Given the description of an element on the screen output the (x, y) to click on. 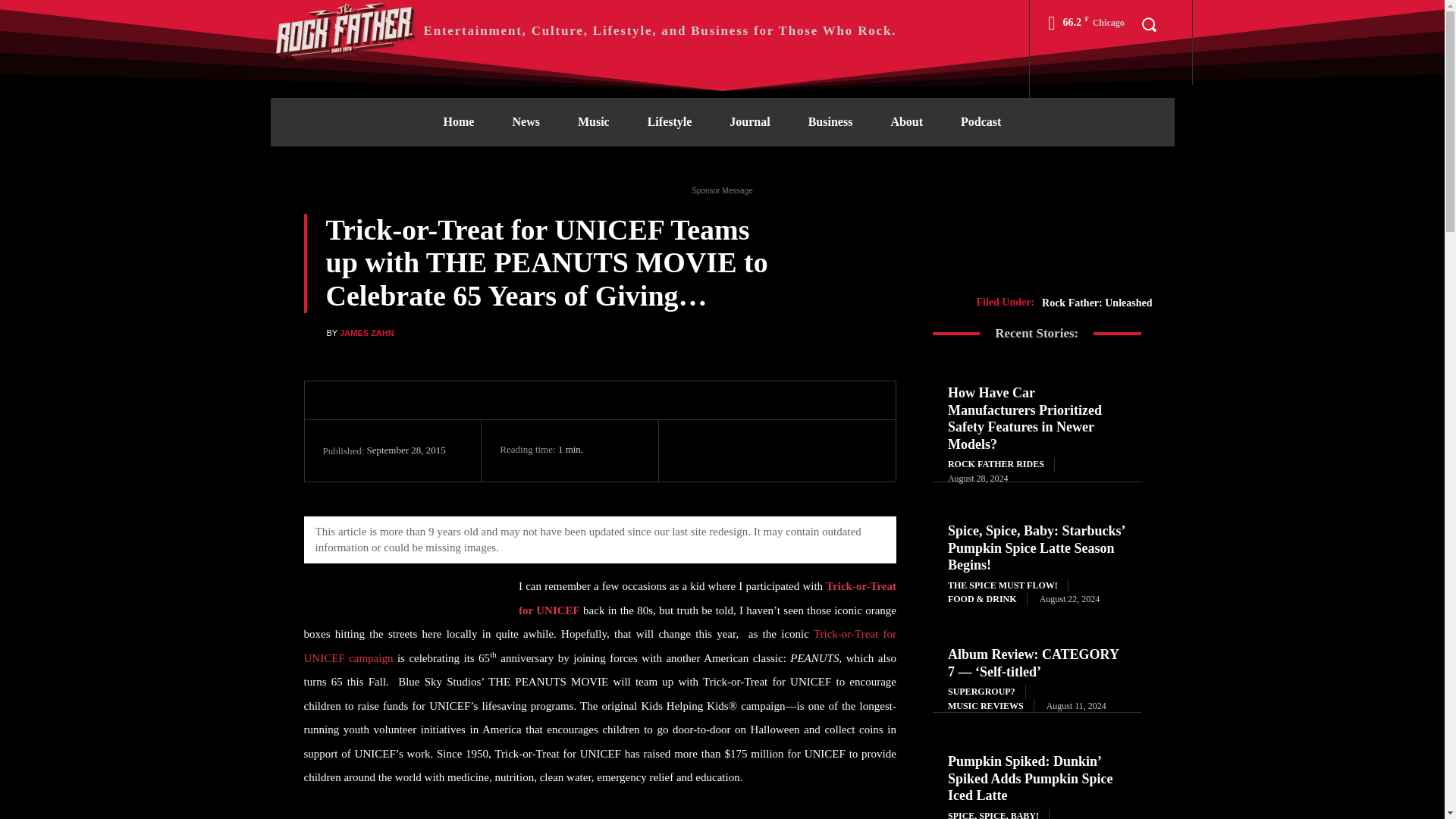
Lifestyle (669, 121)
The Rock Father (582, 30)
The Rock Father (345, 30)
Home (459, 121)
Music (593, 121)
News (525, 121)
James Zahn (314, 333)
